Given the description of an element on the screen output the (x, y) to click on. 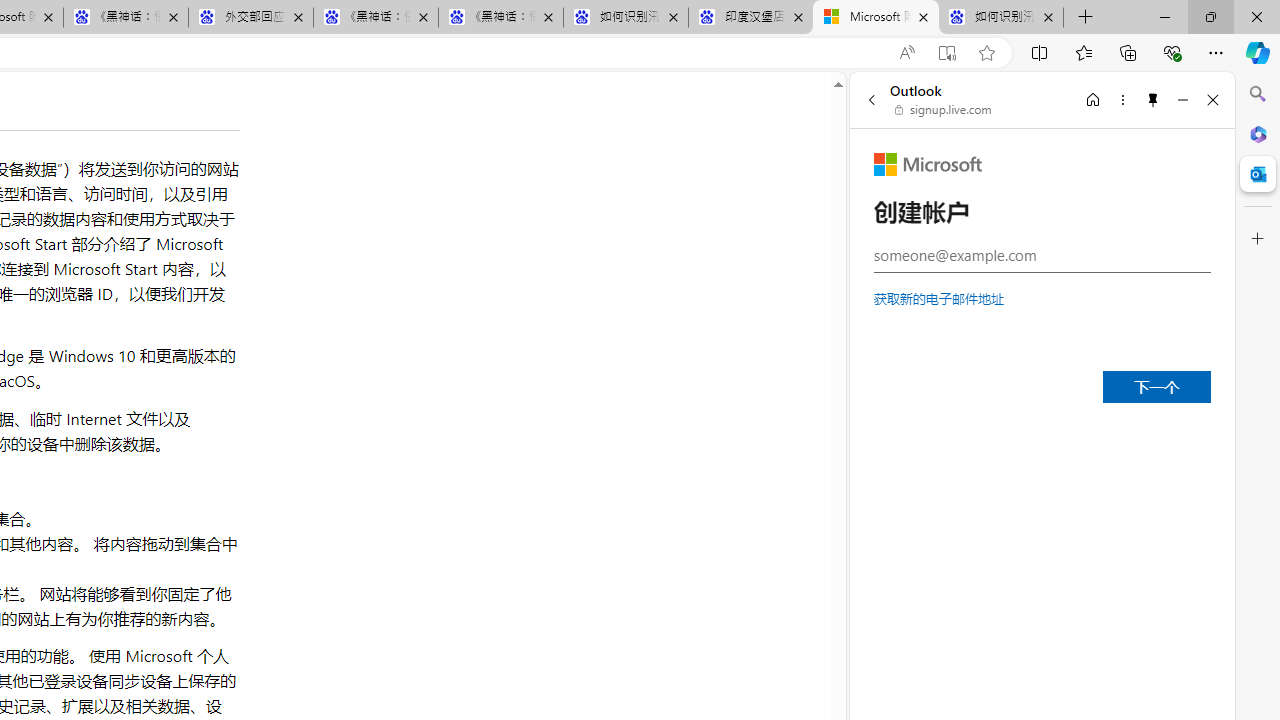
Read aloud this page (Ctrl+Shift+U) (906, 53)
Close (1213, 99)
Microsoft (927, 164)
Copilot (Ctrl+Shift+.) (1258, 52)
Unpin side pane (1153, 99)
signup.live.com (943, 110)
Settings and more (Alt+F) (1215, 52)
Home (1093, 99)
Microsoft 365 (1258, 133)
Close Outlook pane (1258, 174)
Browser essentials (1171, 52)
